Given the description of an element on the screen output the (x, y) to click on. 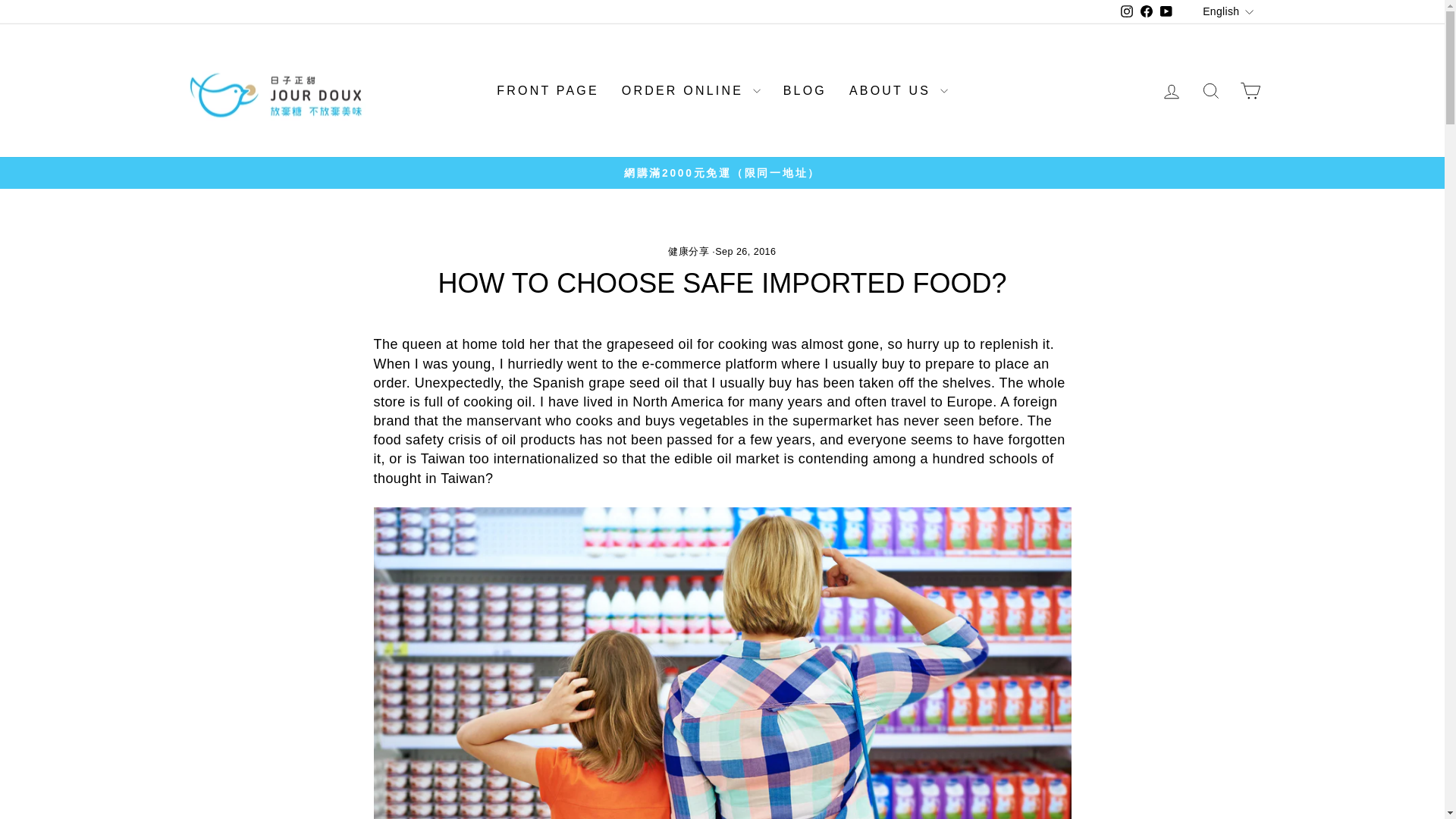
FRONT PAGE (547, 90)
ACCOUNT (1170, 91)
English (1229, 11)
instagram (1126, 10)
ICON-SEARCH (1210, 90)
